Given the description of an element on the screen output the (x, y) to click on. 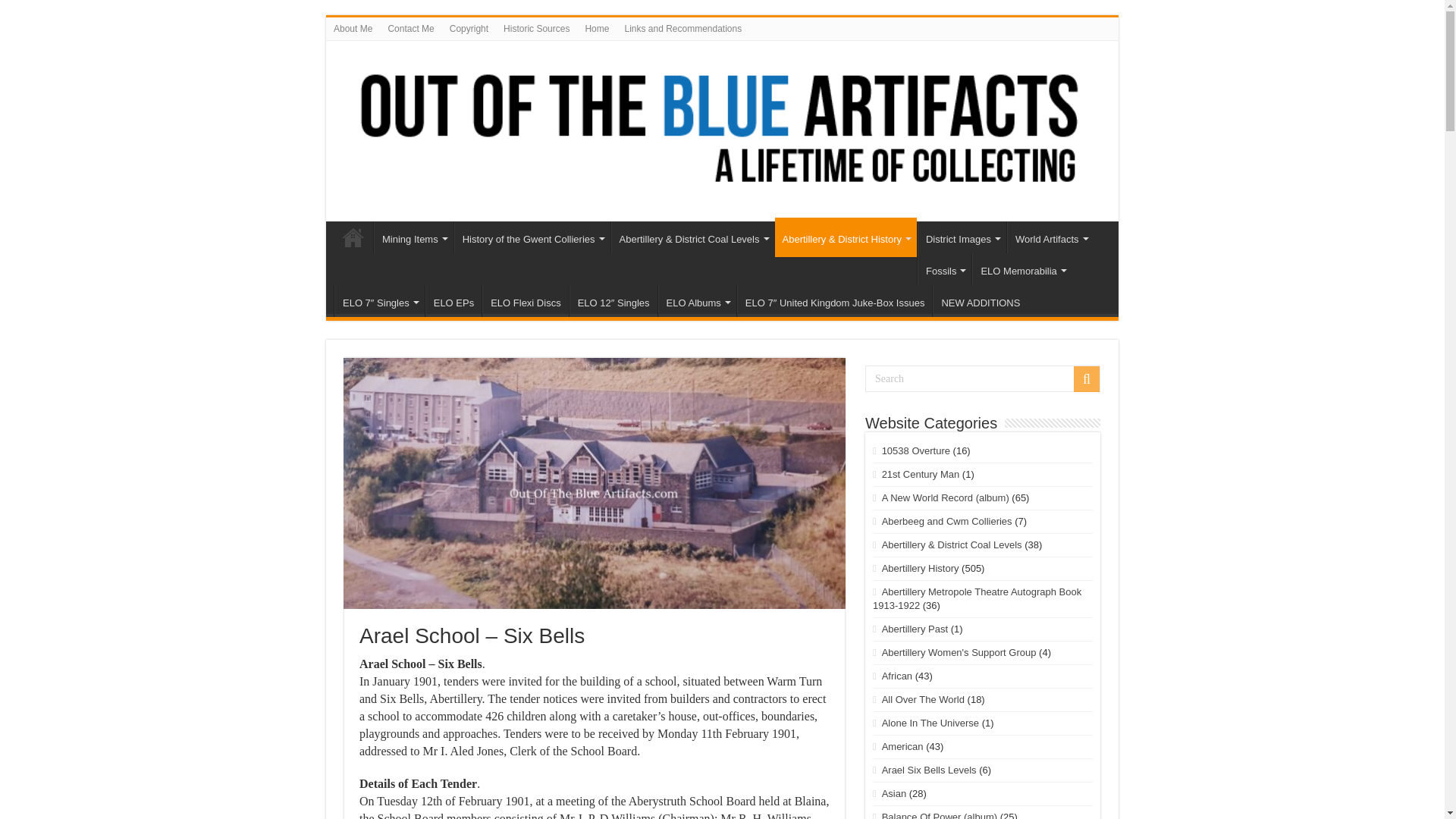
Copyright (469, 28)
Search (982, 378)
Contact Me (410, 28)
Home (352, 237)
About Me (353, 28)
Historic Sources (536, 28)
Links and Recommendations (682, 28)
Mining Items (413, 237)
History of the Gwent Collieries (532, 237)
Home (595, 28)
